Given the description of an element on the screen output the (x, y) to click on. 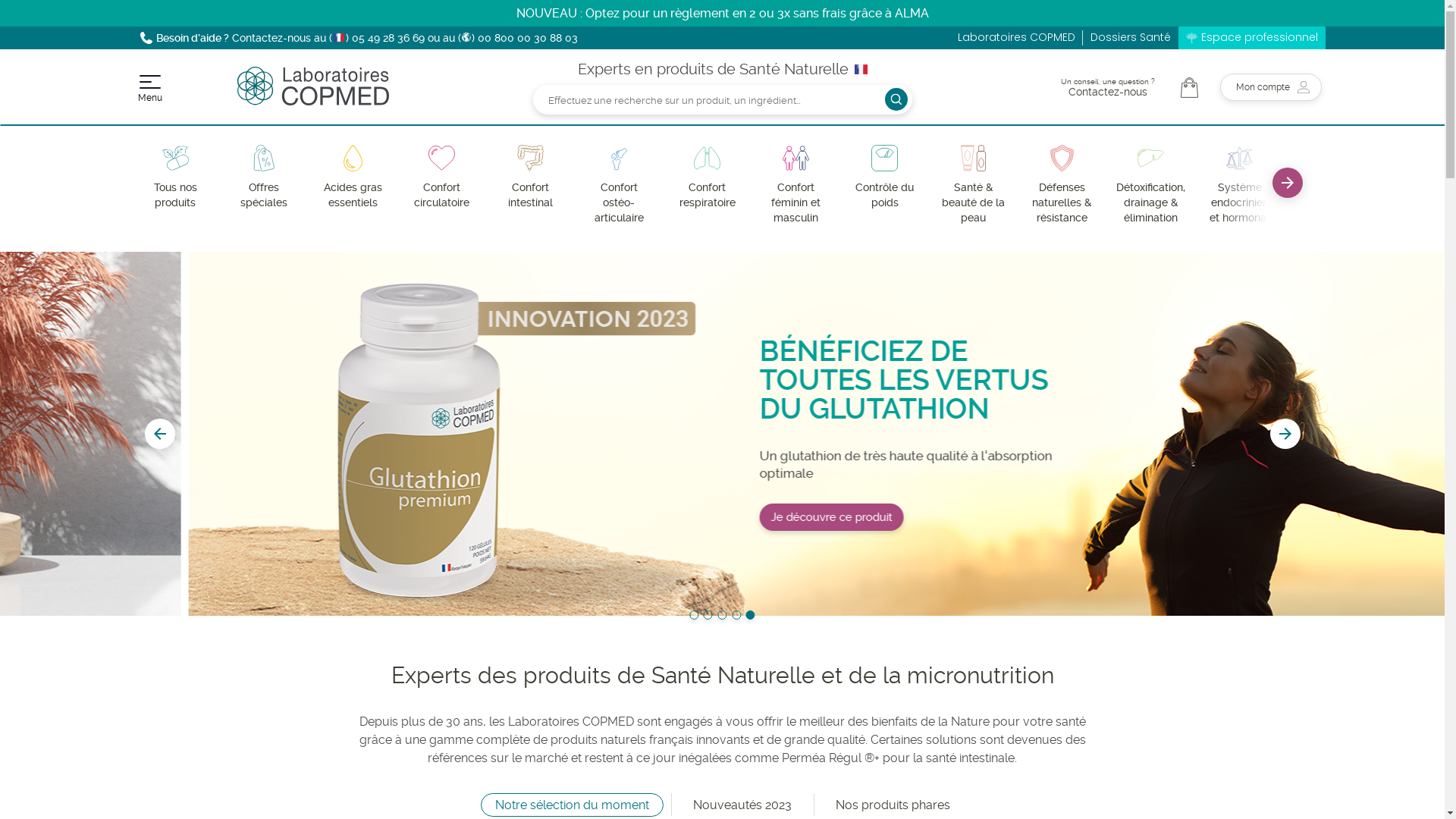
Confort intestinal Element type: text (529, 177)
Menu Element type: text (148, 89)
Acides gras essentiels Element type: text (351, 177)
Laboratoires COPMED Element type: hover (312, 101)
Tous nos produits Element type: text (175, 177)
Confort respiratoire Element type: text (706, 177)
Espace professionnel Element type: text (1259, 37)
Laboratoires COPMED Element type: text (1015, 37)
Un conseil, une question ?
Contactez-nous Element type: text (1107, 87)
Nos produits phares Element type: text (891, 804)
Mon compte Element type: text (1270, 86)
Confort circulatoire Element type: text (440, 177)
